Given the description of an element on the screen output the (x, y) to click on. 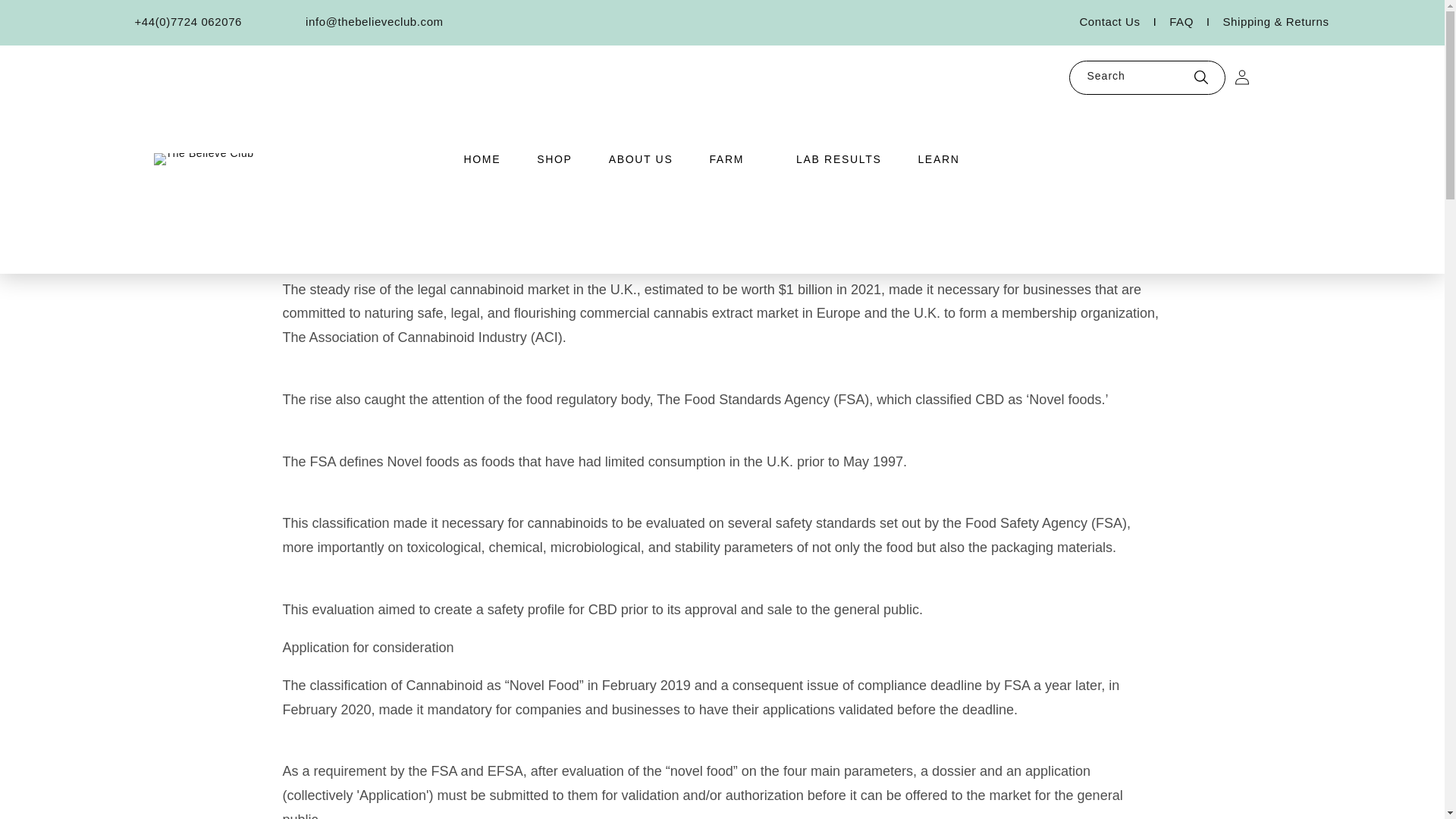
HOME (482, 159)
FAQ (1196, 21)
LEARN (938, 159)
ABOUT US (640, 159)
SHOP (554, 159)
Skip to content (45, 16)
Contact Us (1123, 21)
FARM (726, 159)
LAB RESULTS (838, 159)
